Given the description of an element on the screen output the (x, y) to click on. 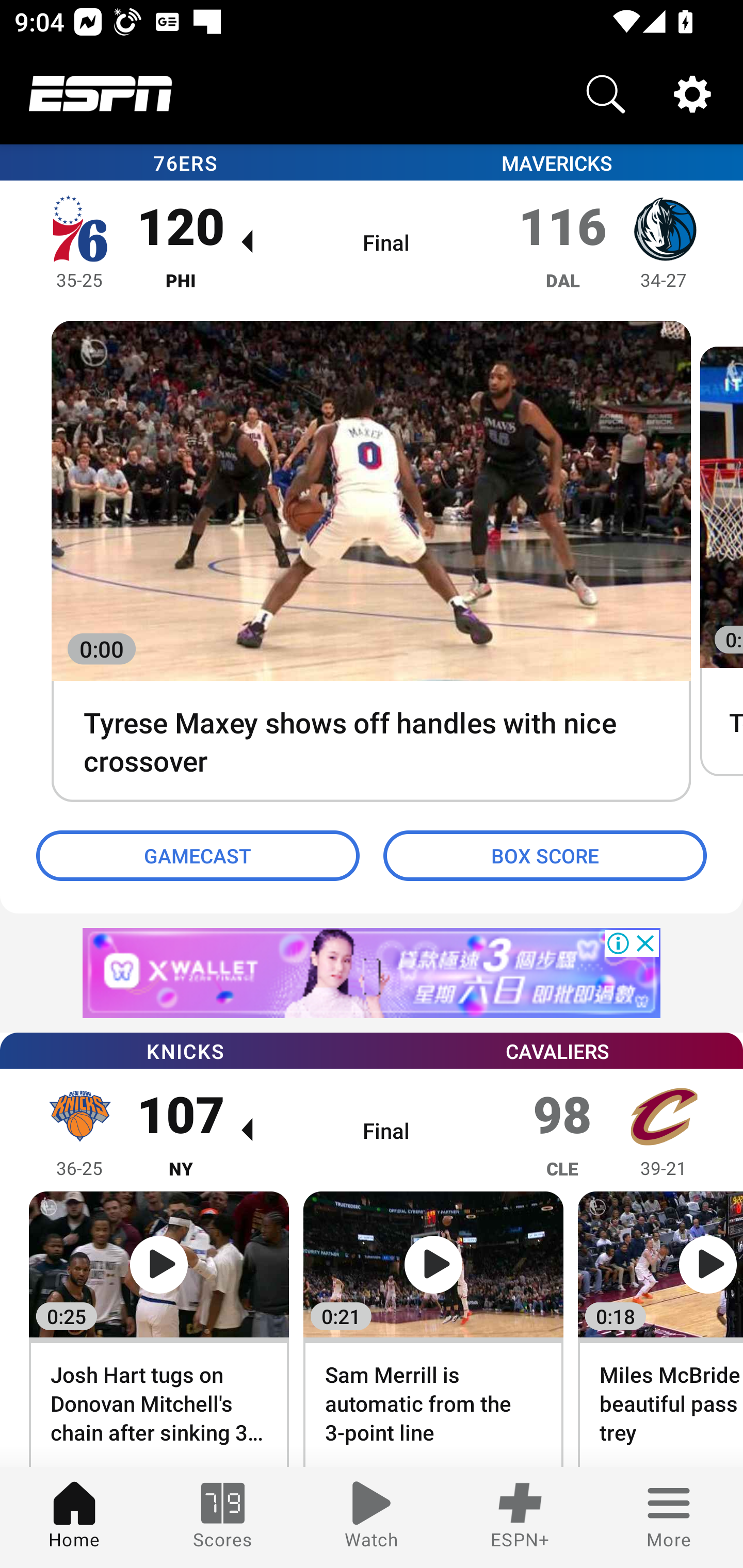
Search (605, 93)
Settings (692, 93)
GAMECAST (197, 856)
BOX SCORE (544, 856)
Scores (222, 1517)
Watch (371, 1517)
ESPN+ (519, 1517)
More (668, 1517)
